Given the description of an element on the screen output the (x, y) to click on. 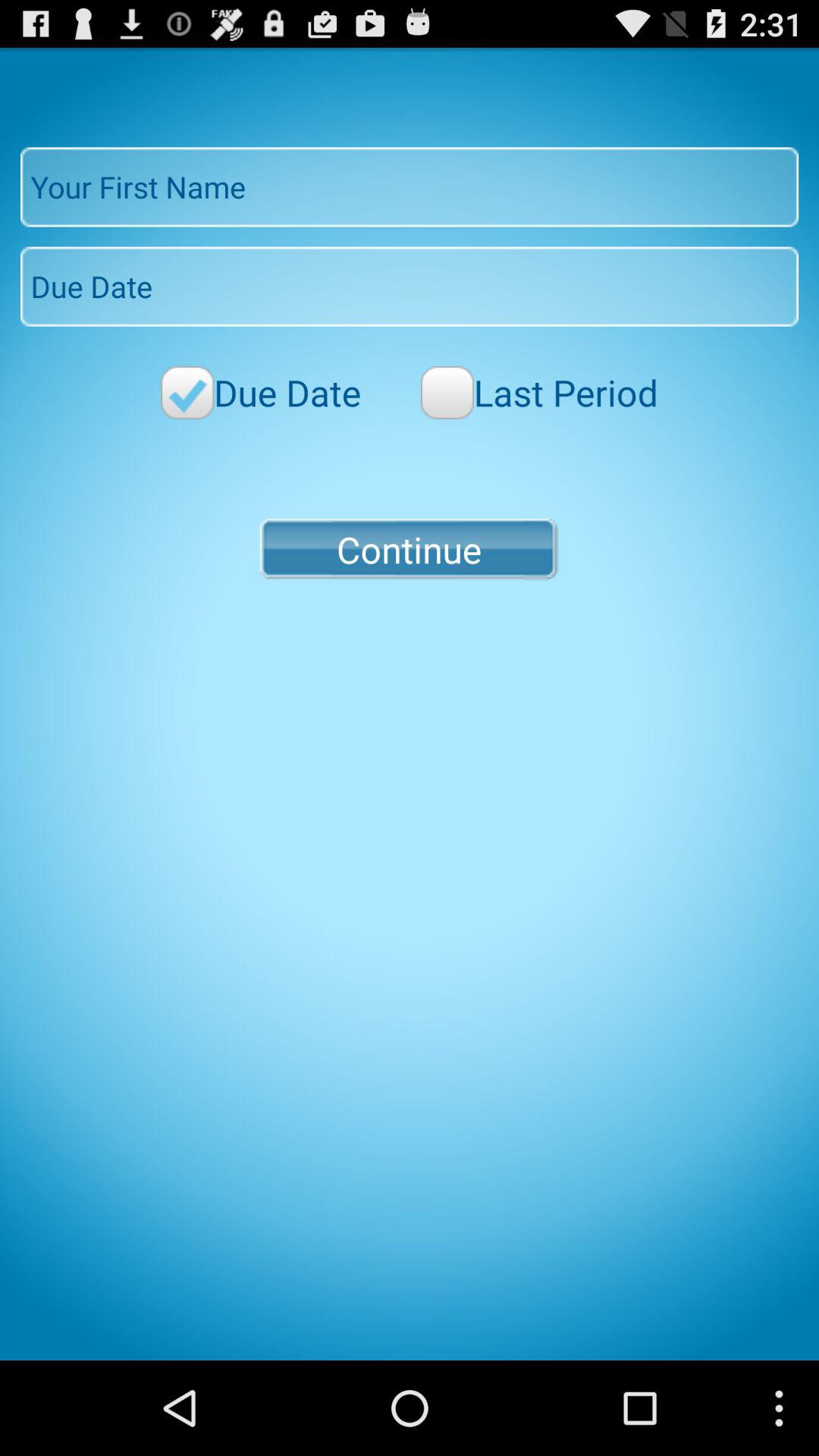
scroll until continue item (408, 549)
